Given the description of an element on the screen output the (x, y) to click on. 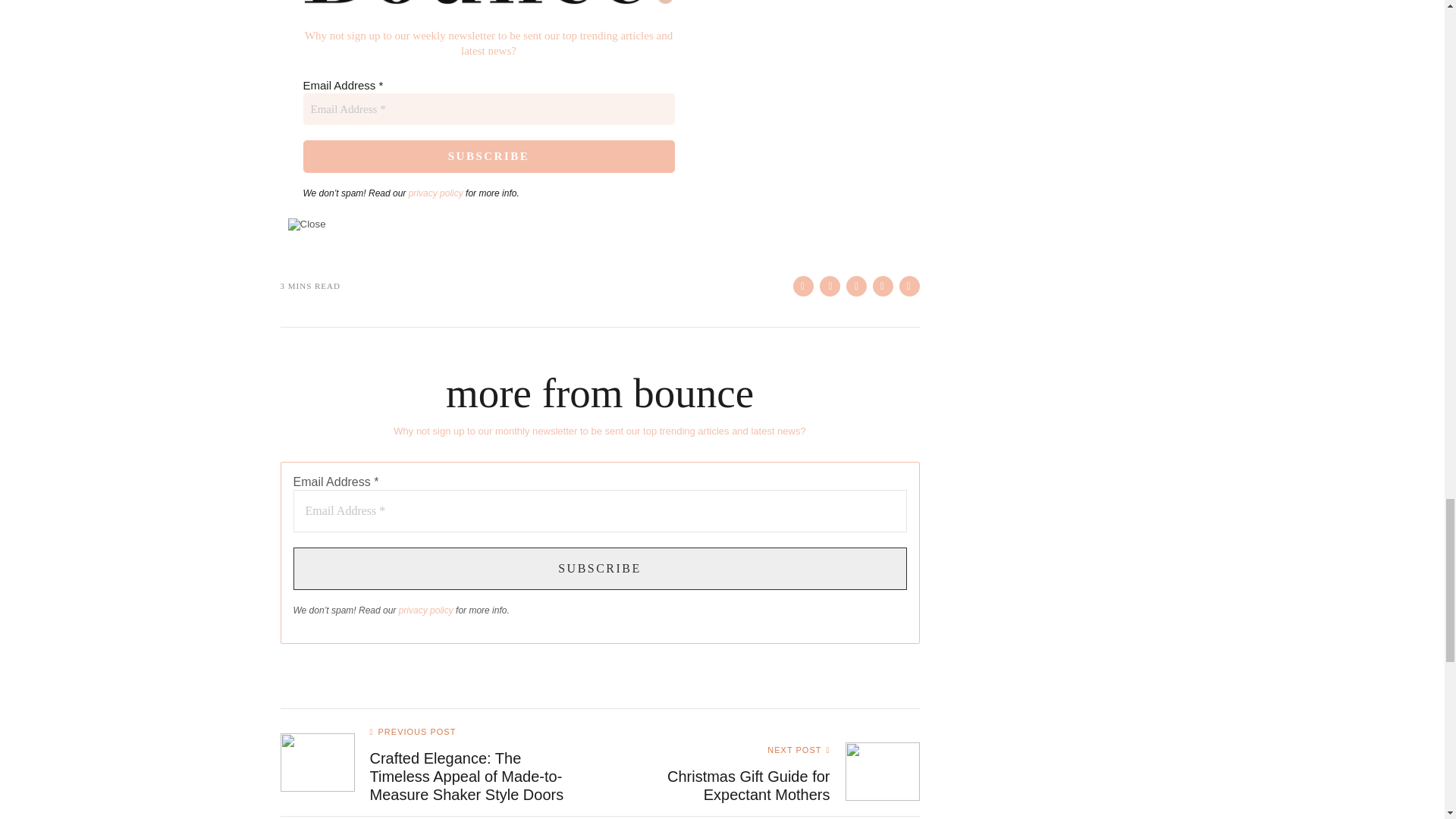
SUBSCRIBE (488, 156)
Email Address (598, 510)
Email Address (488, 109)
Share with E-Mail (909, 286)
Share to Twitter (829, 286)
Subscribe (598, 568)
Share to Pinterest (855, 286)
Share to Facebook (803, 286)
Share with Whatsapp (882, 286)
